Given the description of an element on the screen output the (x, y) to click on. 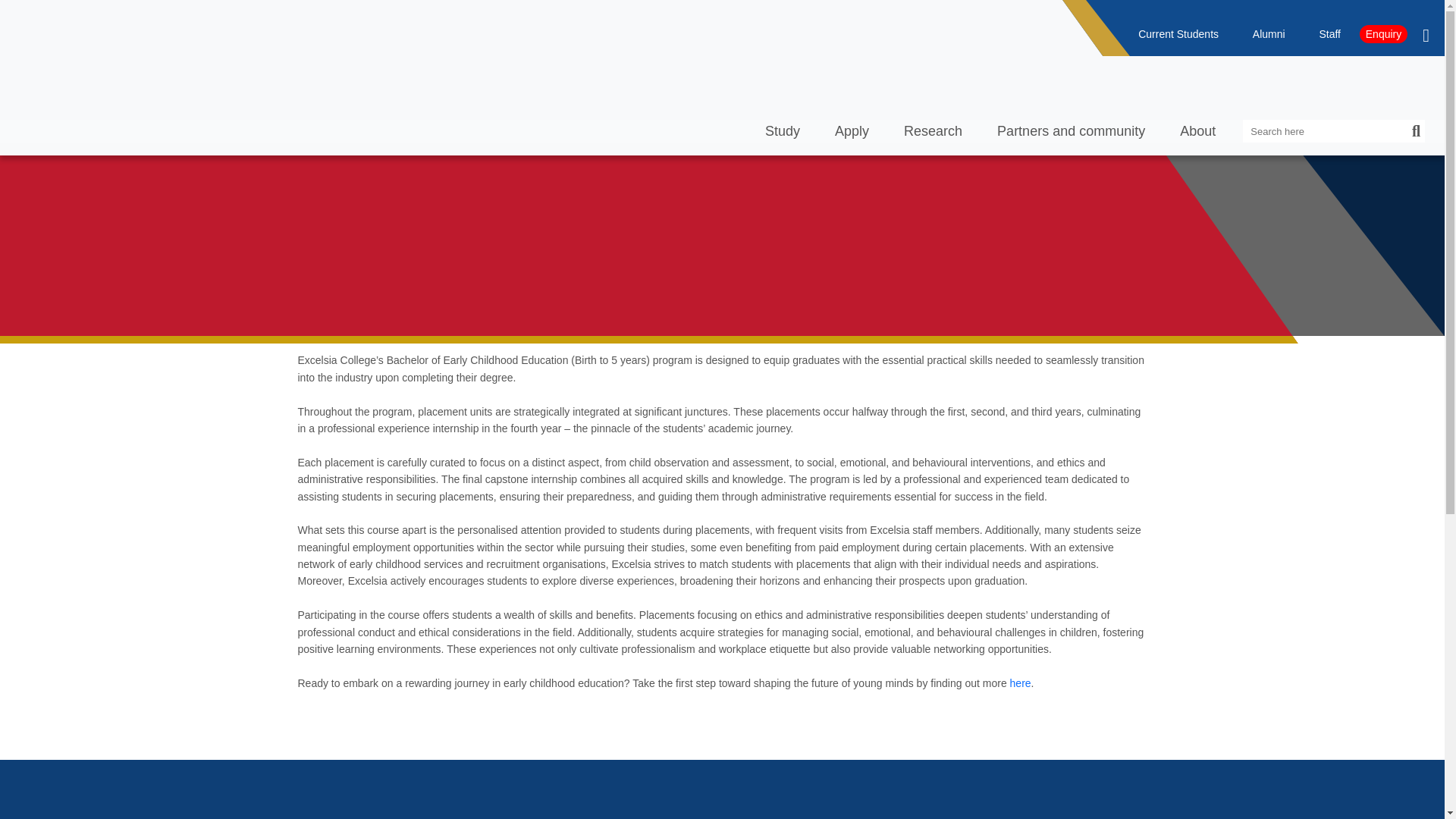
Enquiry (1166, 55)
